Given the description of an element on the screen output the (x, y) to click on. 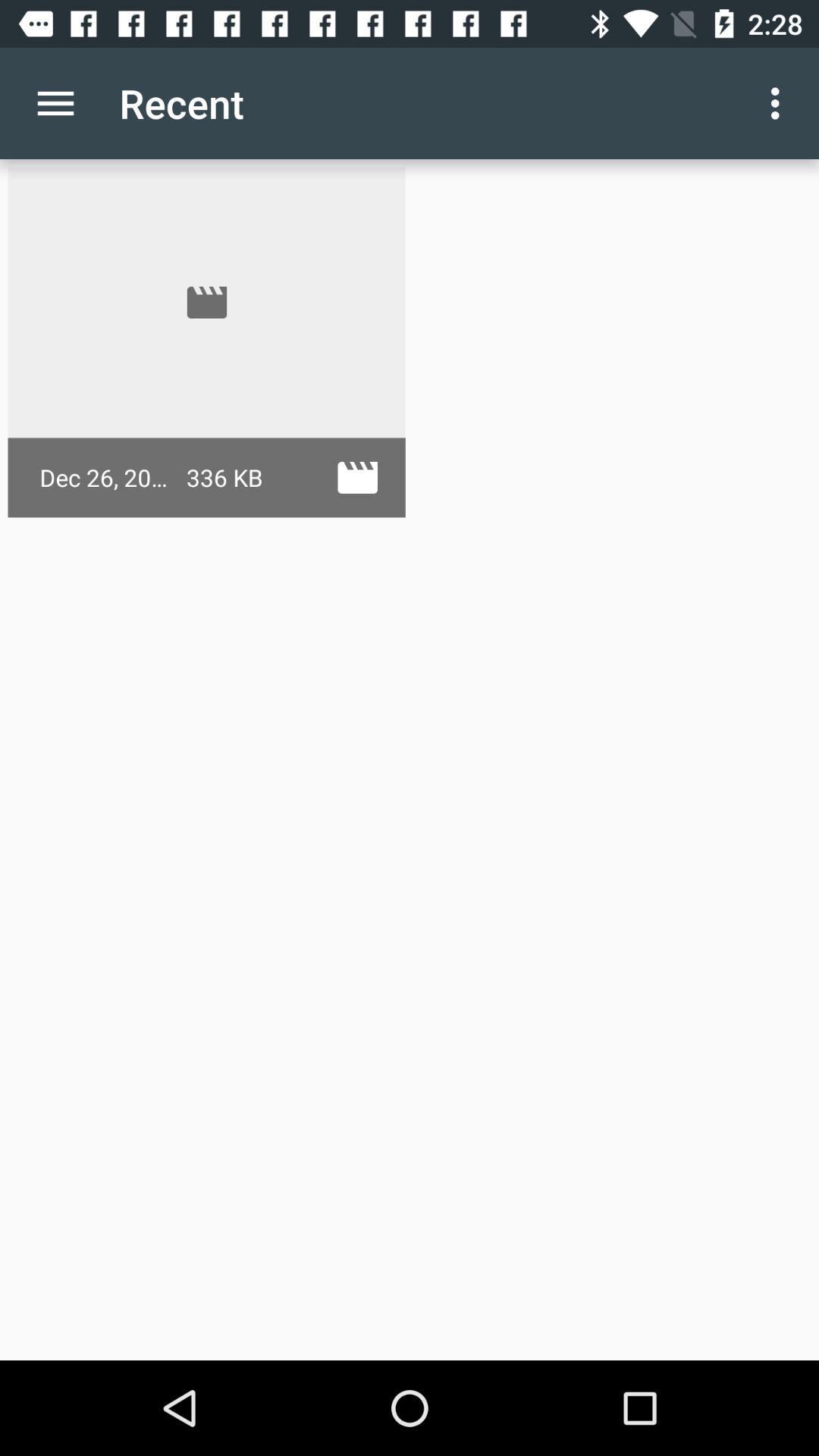
click the icon at the top right corner (779, 103)
